Given the description of an element on the screen output the (x, y) to click on. 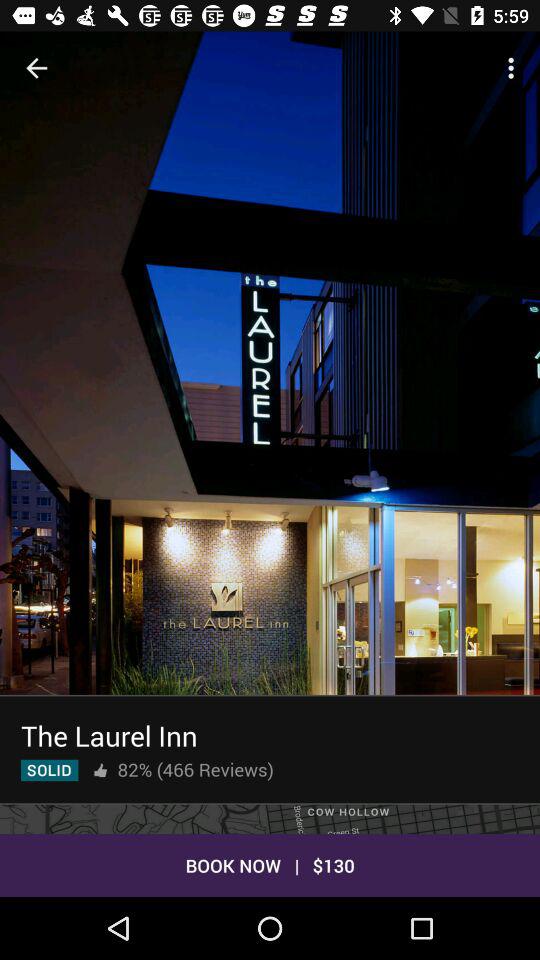
swipe until book now   |   $130 (270, 864)
